Given the description of an element on the screen output the (x, y) to click on. 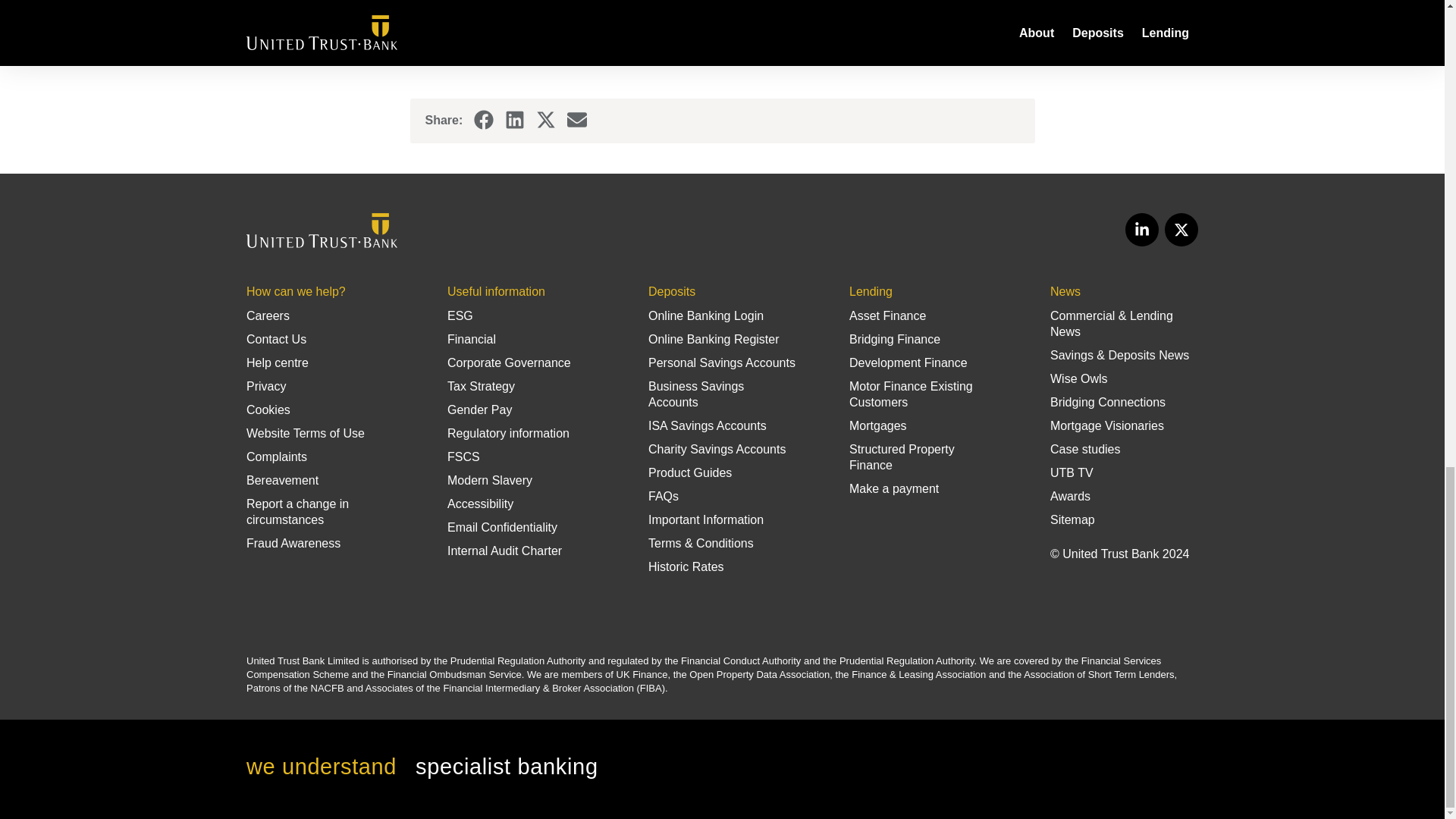
United Bank Trust logo (321, 230)
LinkedIn (514, 120)
Fraud Awareness (293, 543)
Facebook (483, 120)
Complaints (276, 456)
ESG (459, 315)
Help centre (277, 362)
Envelope (576, 120)
Privacy (265, 386)
Report a change in circumstances (297, 511)
Cookies (267, 409)
Contact Us (275, 338)
LinkedIn (514, 119)
Facebook (483, 119)
Website Terms of Use (305, 432)
